Given the description of an element on the screen output the (x, y) to click on. 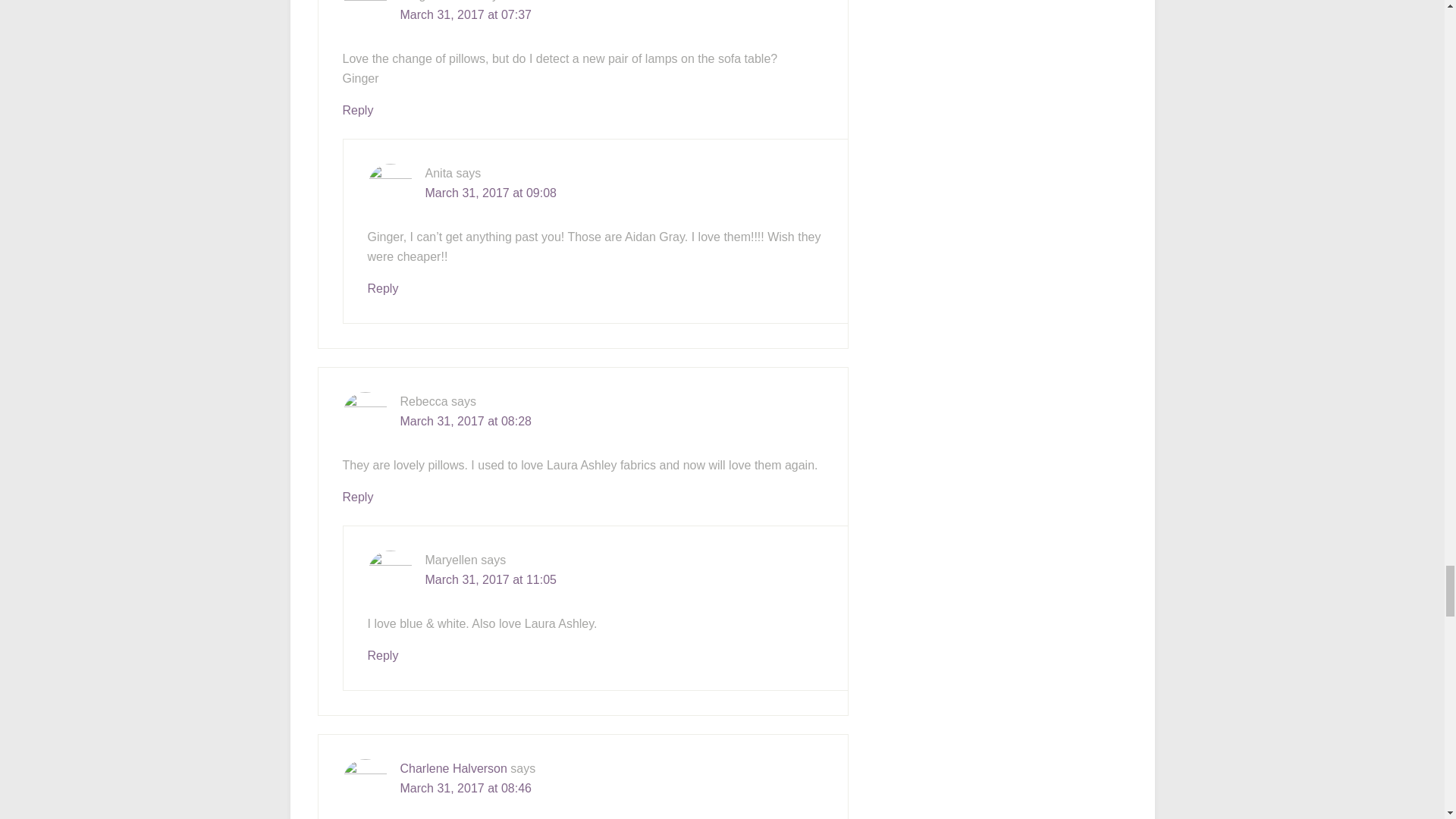
Reply (358, 496)
March 31, 2017 at 09:08 (490, 192)
March 31, 2017 at 08:28 (465, 420)
Reply (358, 110)
March 31, 2017 at 07:37 (465, 14)
Reply (381, 287)
